Given the description of an element on the screen output the (x, y) to click on. 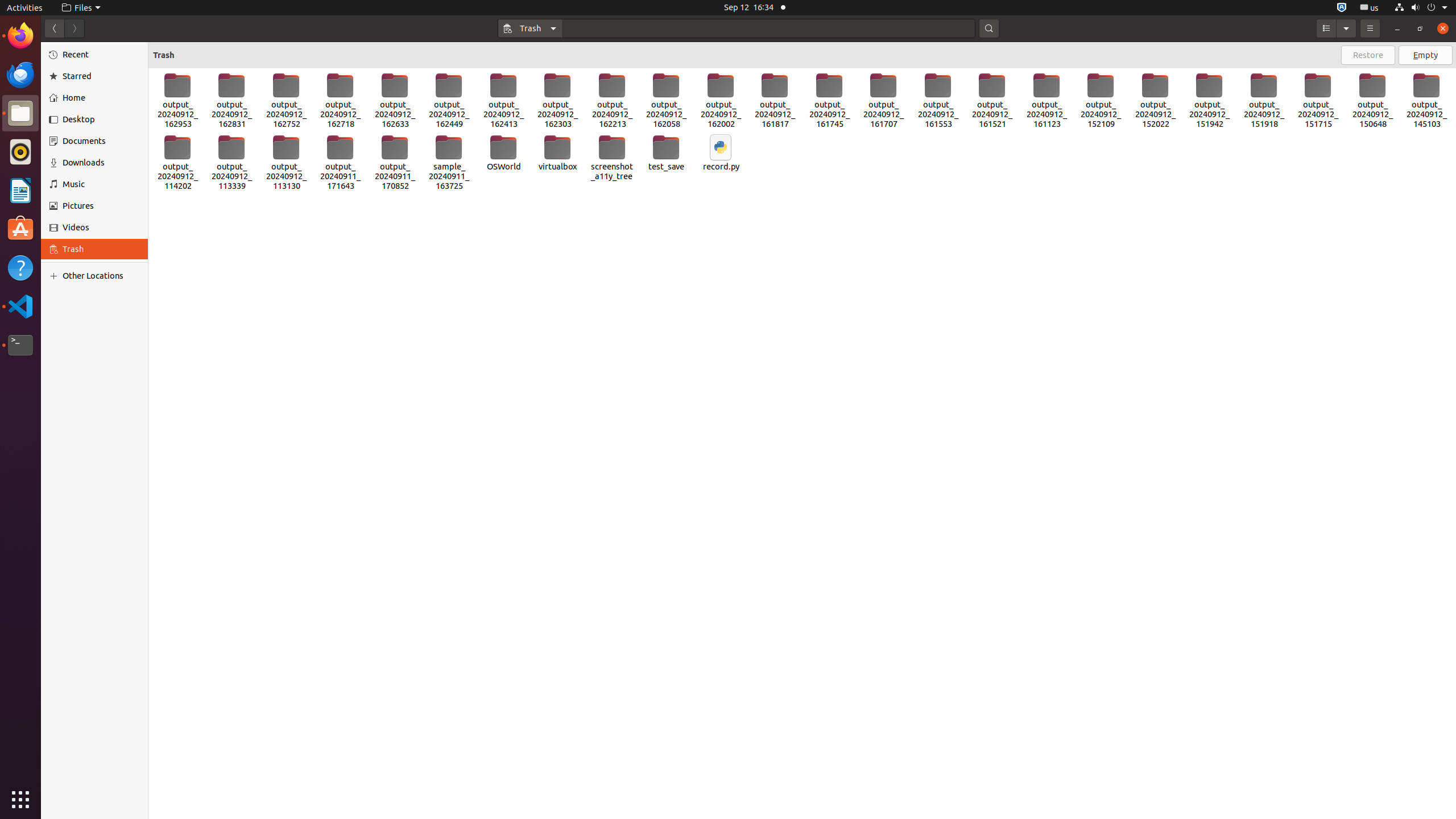
output_20240912_161521 Element type: canvas (991, 100)
output_20240912_162752 Element type: canvas (285, 100)
